Given the description of an element on the screen output the (x, y) to click on. 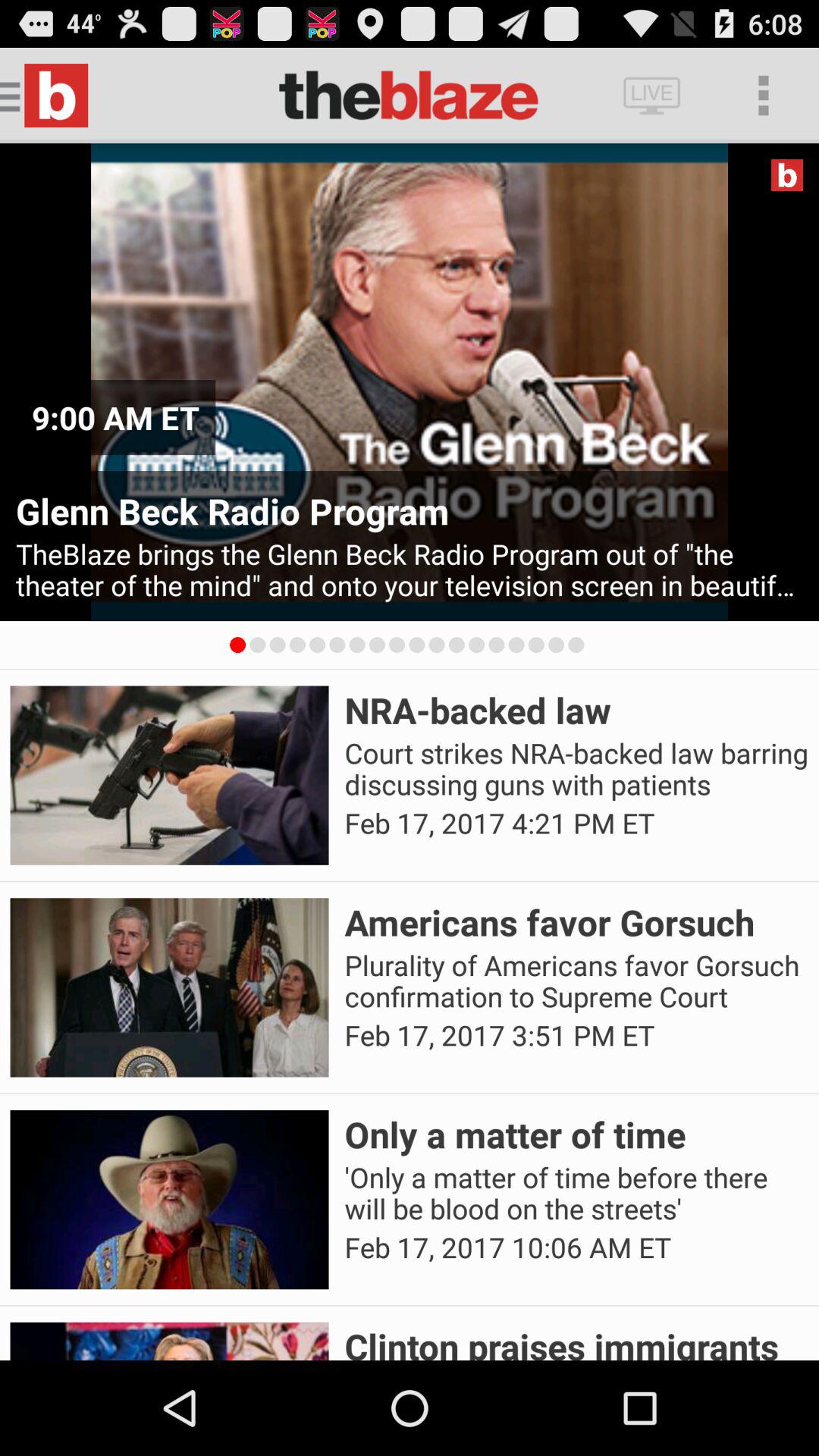
open the app above glenn beck radio icon (787, 175)
